Given the description of an element on the screen output the (x, y) to click on. 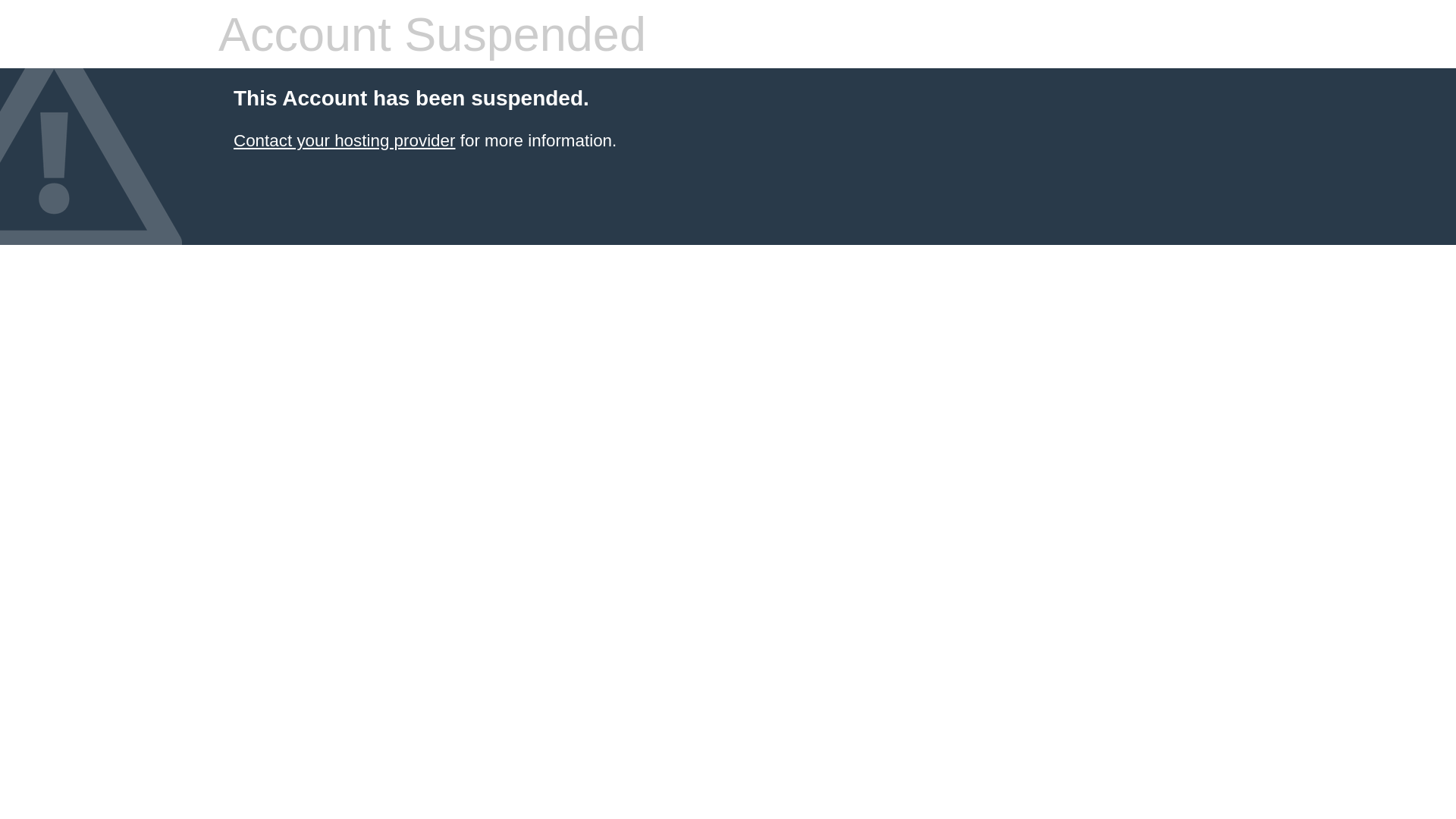
Contact your hosting provider Element type: text (344, 140)
